Given the description of an element on the screen output the (x, y) to click on. 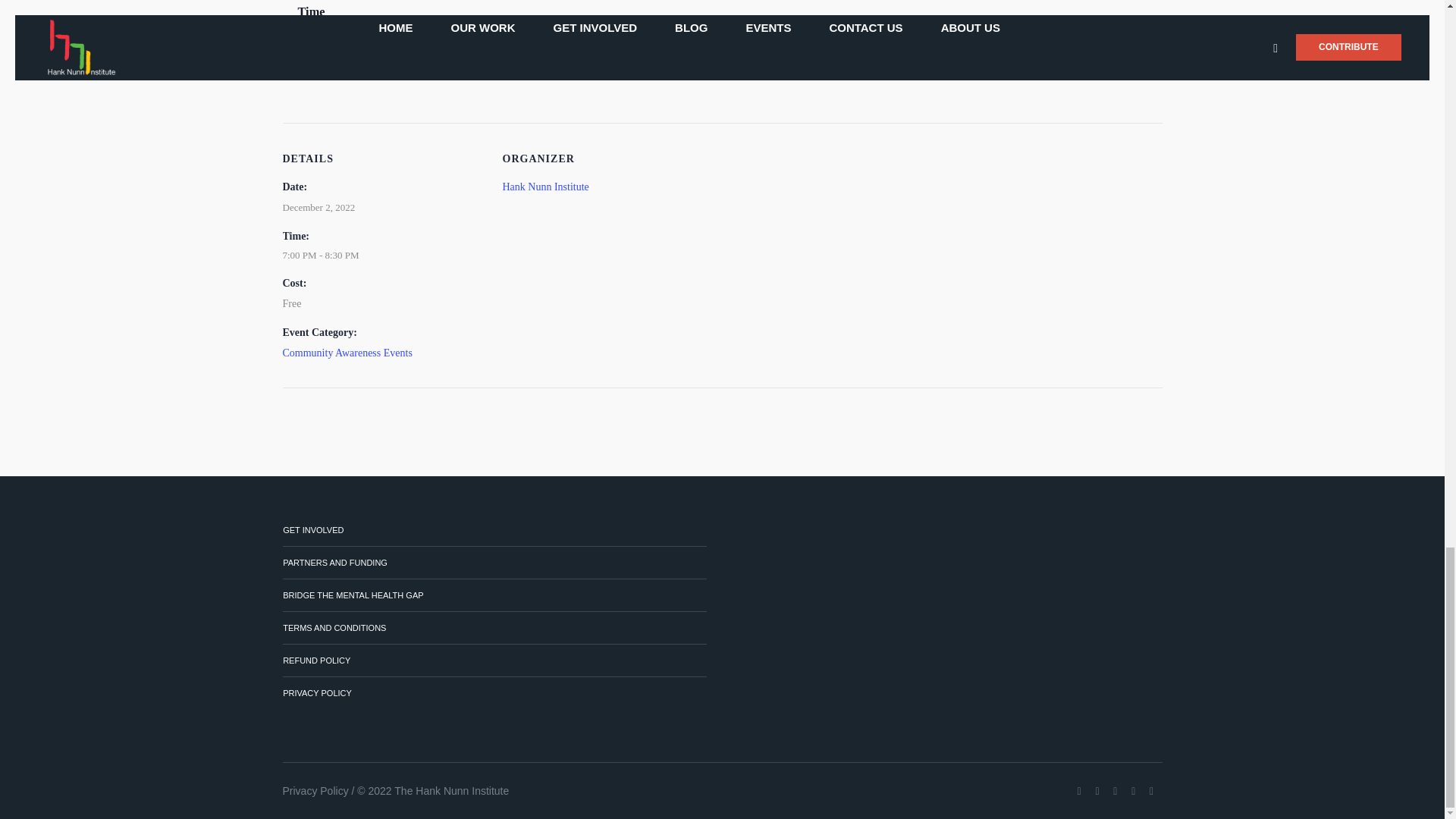
2022-12-02 (392, 255)
2022-12-02 (318, 207)
Facebook (1078, 791)
Hank Nunn Institute (545, 186)
Youtube (1151, 791)
Linkedin (1133, 791)
Twitter (1097, 791)
Instagram (1115, 791)
